Given the description of an element on the screen output the (x, y) to click on. 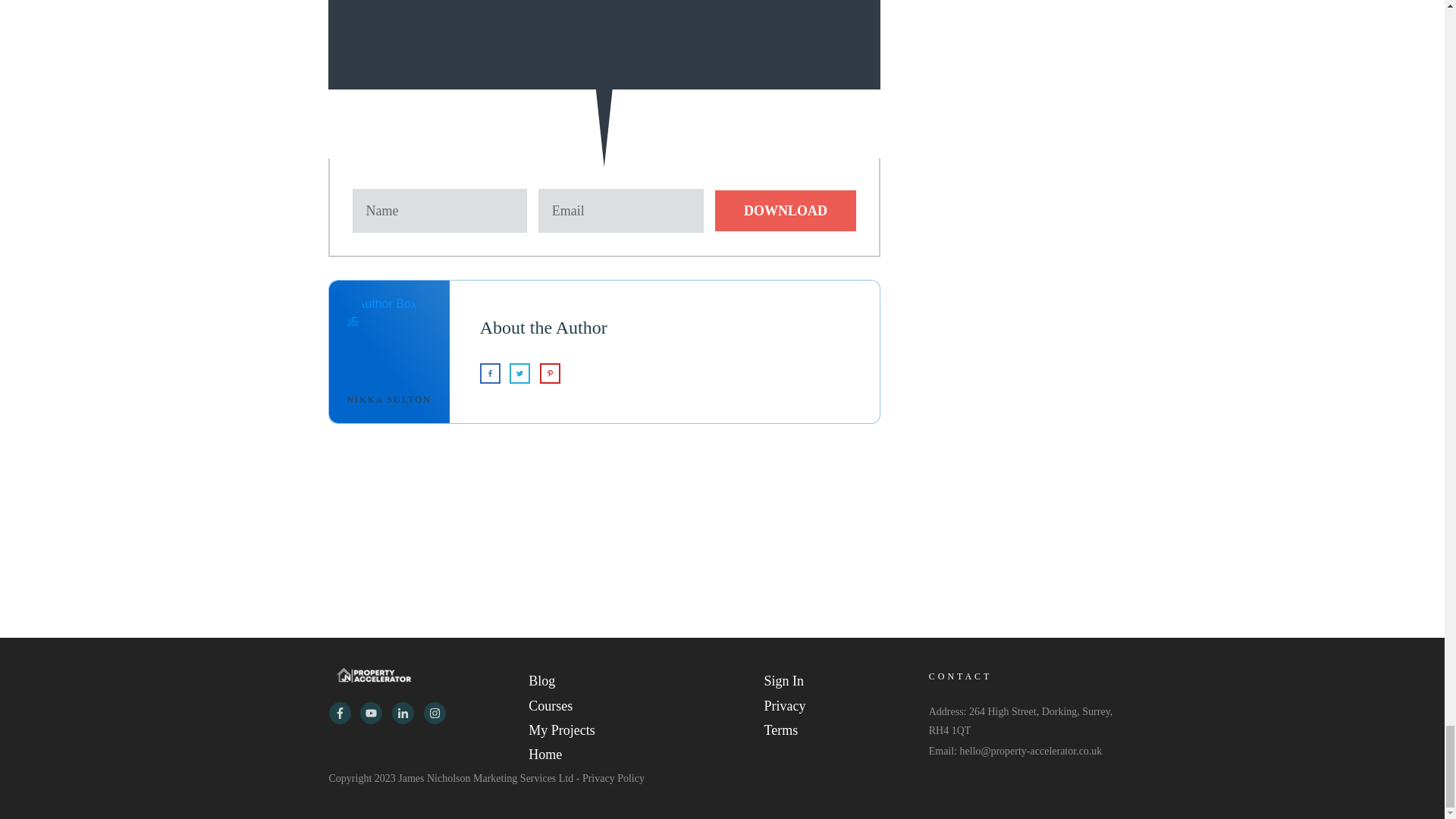
Author Box 05 (389, 339)
NIKKA SULTON (388, 398)
DOWNLOAD (785, 210)
